Given the description of an element on the screen output the (x, y) to click on. 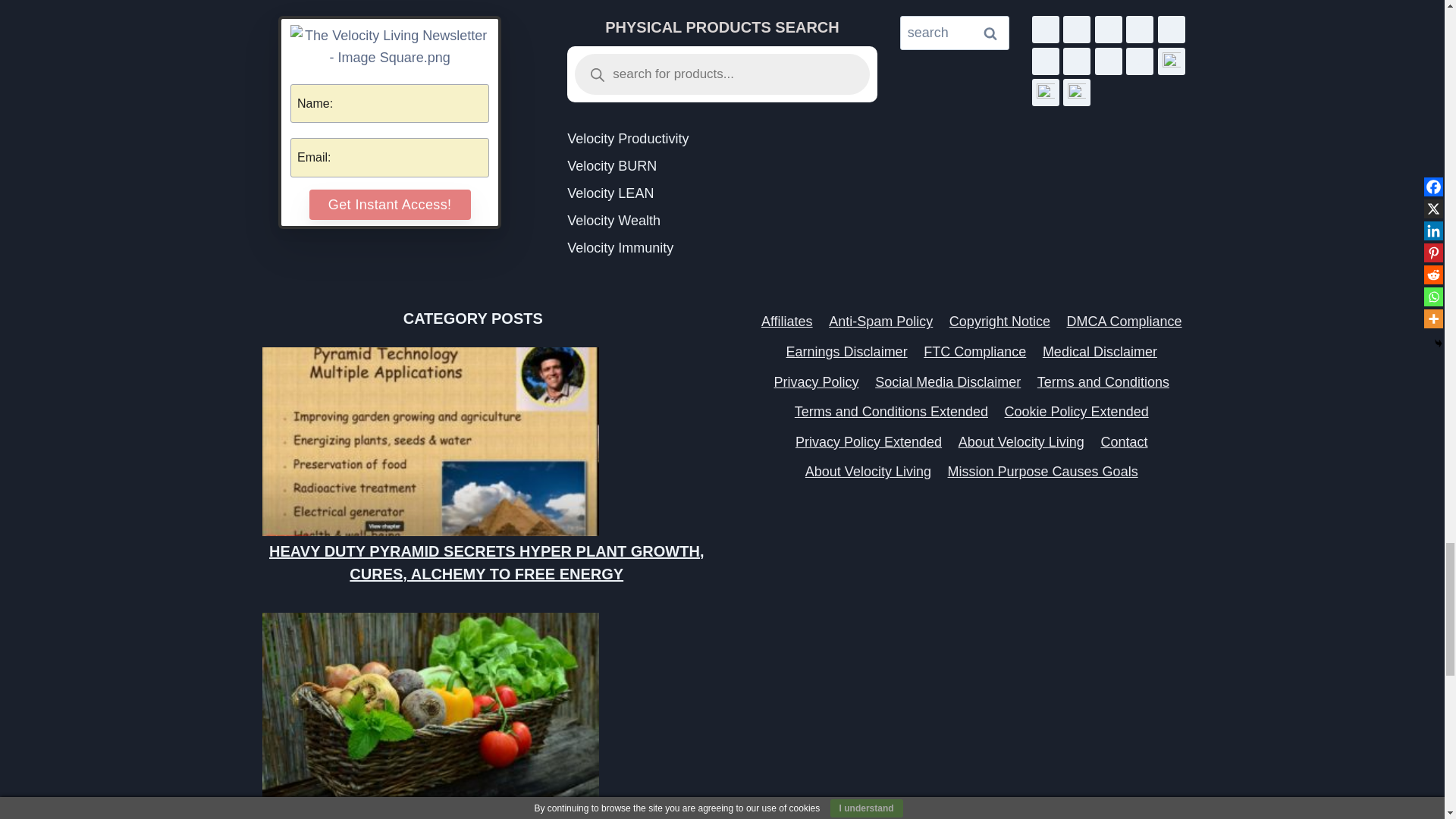
Name: (389, 103)
Email: (389, 157)
Search (990, 32)
Get Instant Access! (389, 204)
Search (990, 32)
